Given the description of an element on the screen output the (x, y) to click on. 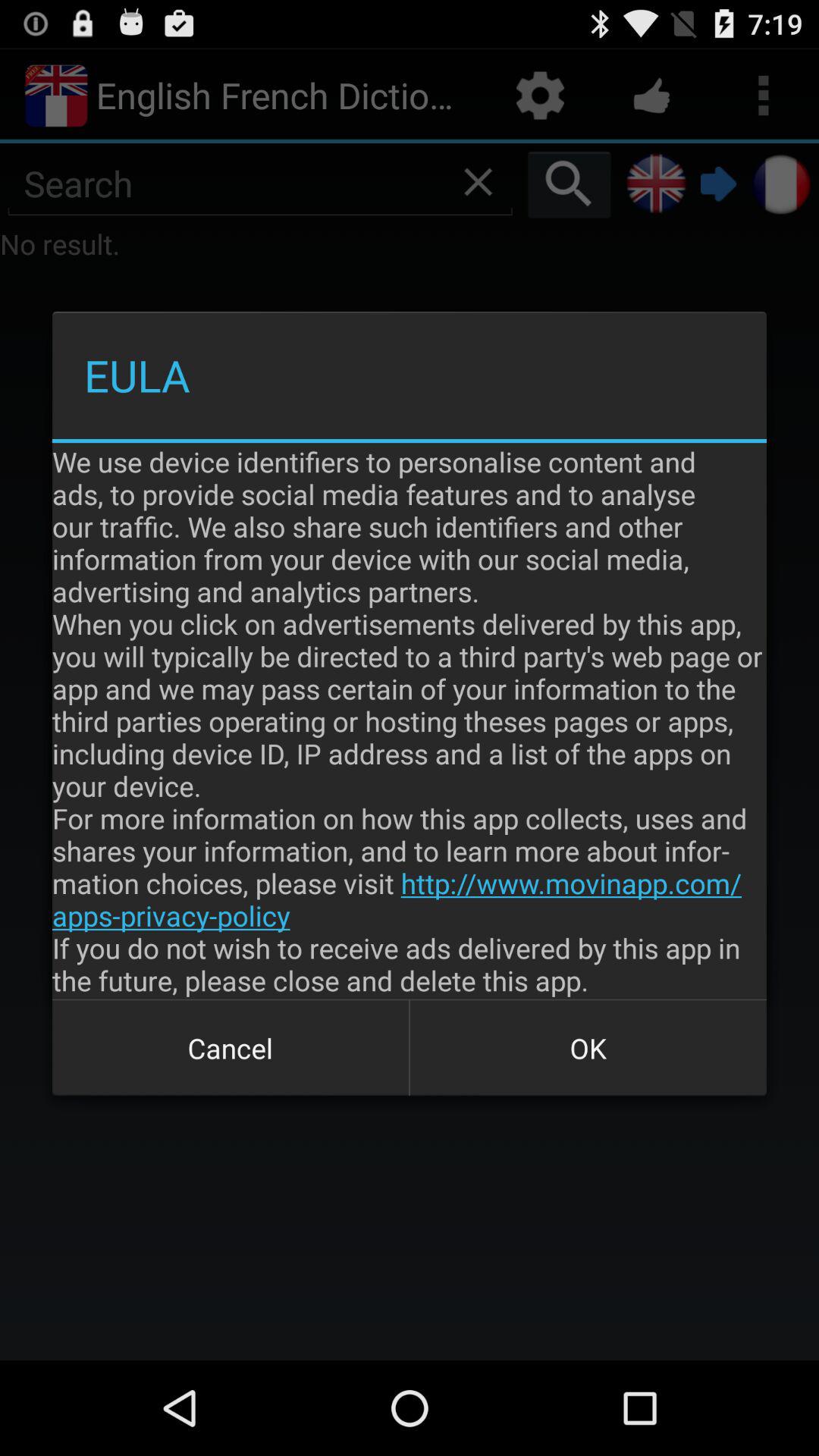
open icon next to cancel icon (588, 1047)
